Given the description of an element on the screen output the (x, y) to click on. 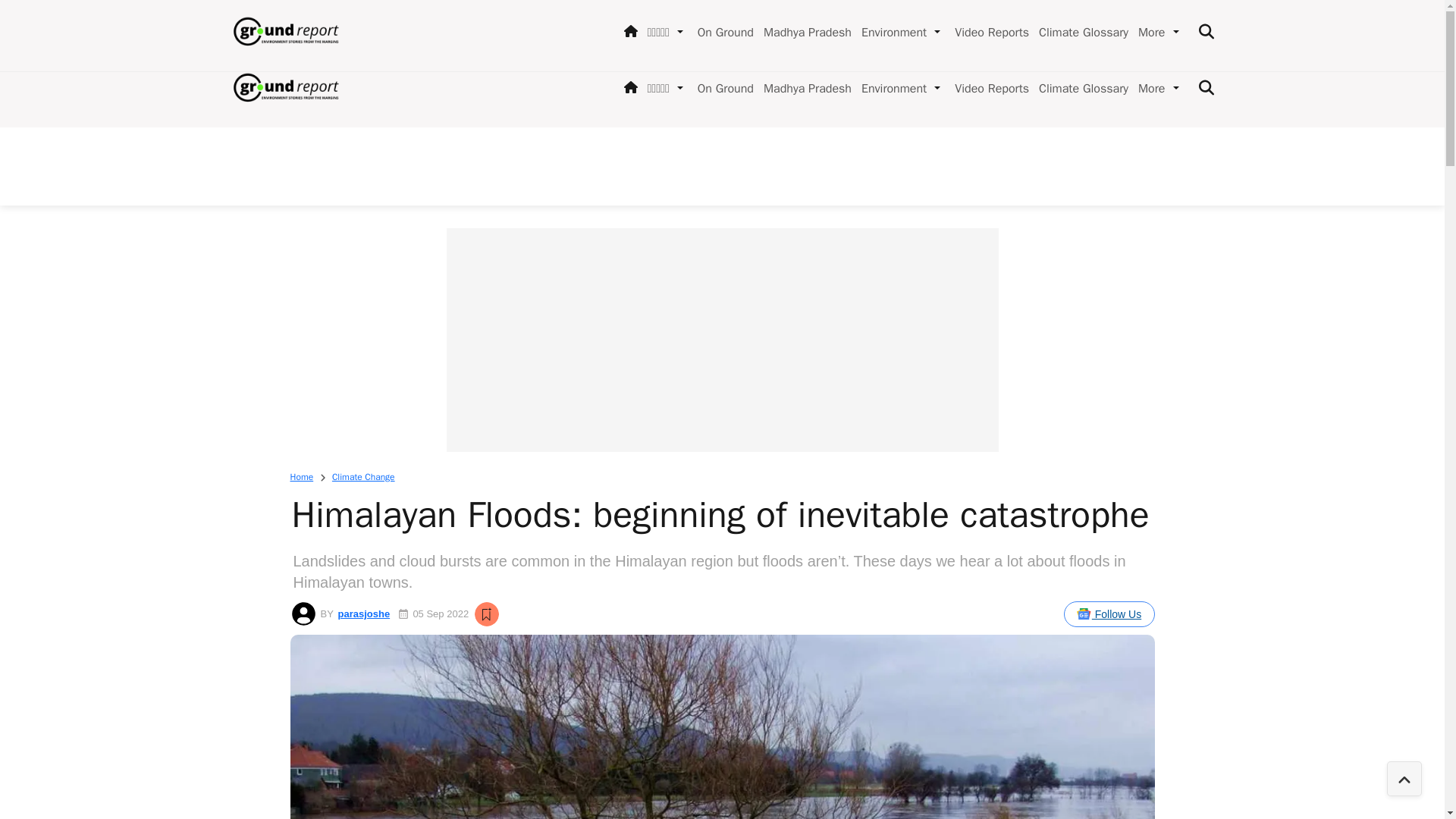
Madhya Pradesh (804, 88)
Climate Glossary (1080, 88)
On Ground (722, 88)
Video Reports (989, 88)
Environment (891, 88)
